Given the description of an element on the screen output the (x, y) to click on. 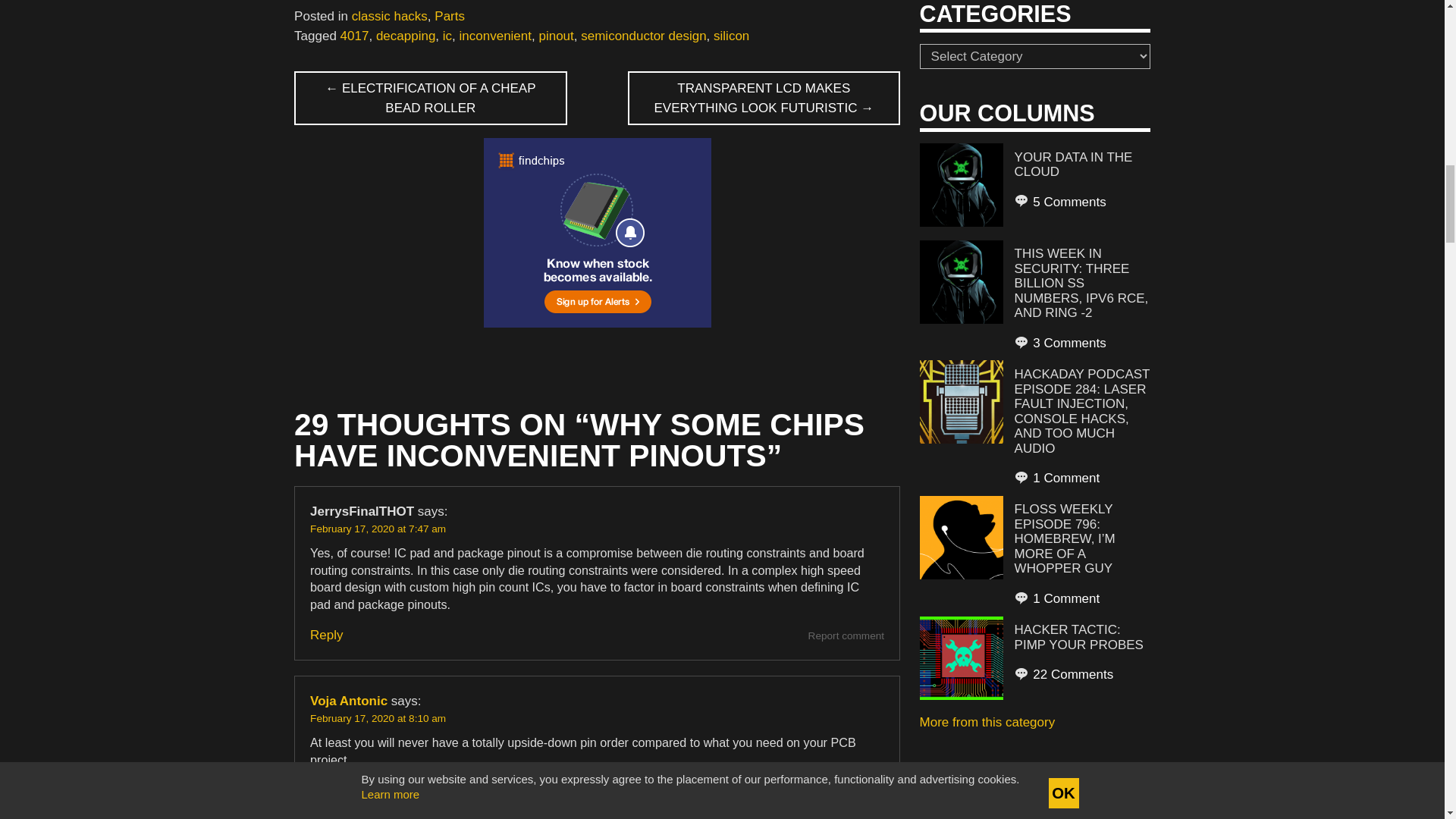
4017 (354, 35)
semiconductor design (643, 35)
pinout (555, 35)
decapping (405, 35)
inconvenient (495, 35)
classic hacks (390, 16)
Parts (448, 16)
silicon (731, 35)
